Given the description of an element on the screen output the (x, y) to click on. 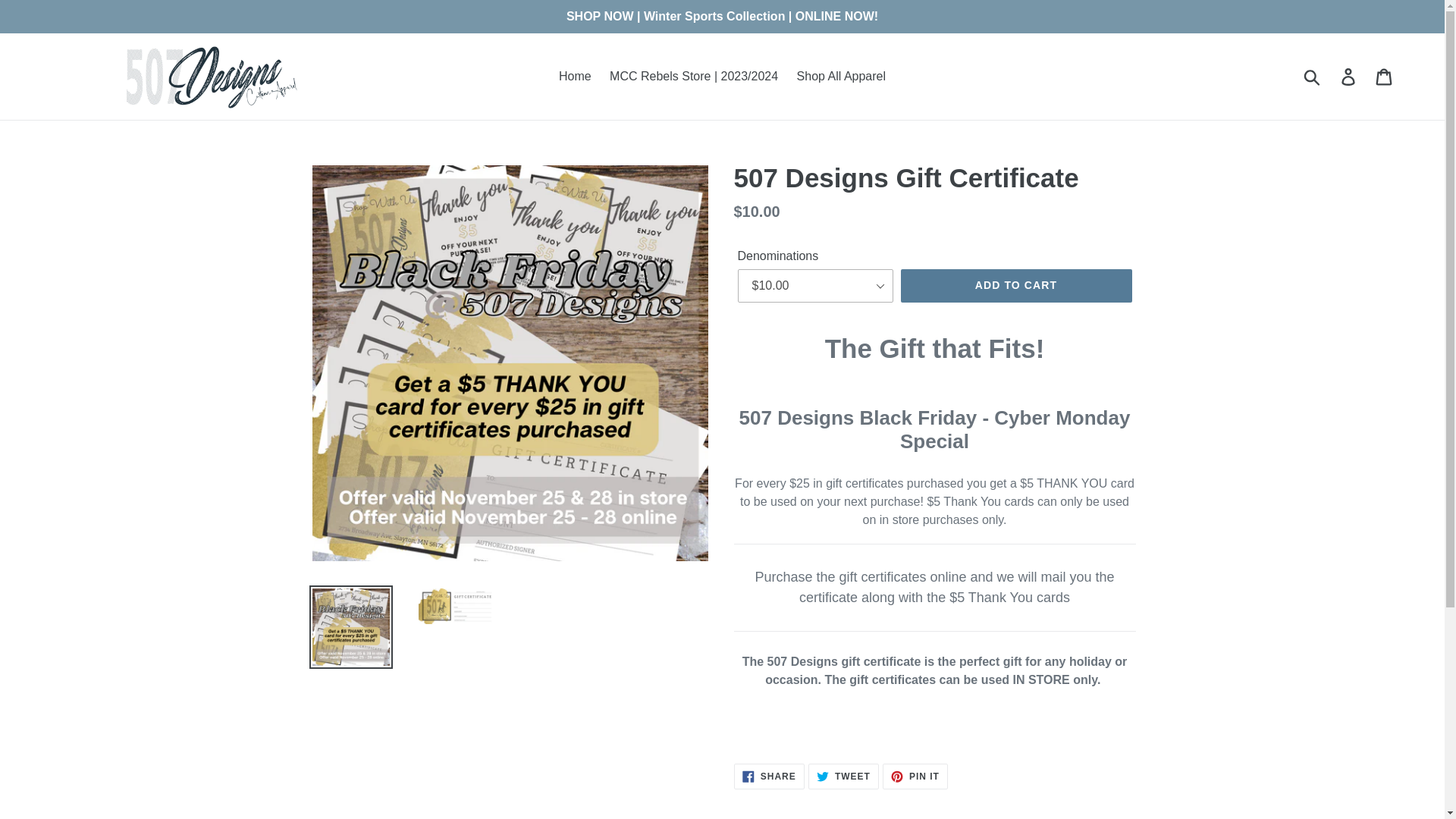
Shop All Apparel (841, 76)
Cart (914, 776)
ADD TO CART (843, 776)
Home (1385, 76)
Submit (1016, 285)
Log in (574, 76)
